Given the description of an element on the screen output the (x, y) to click on. 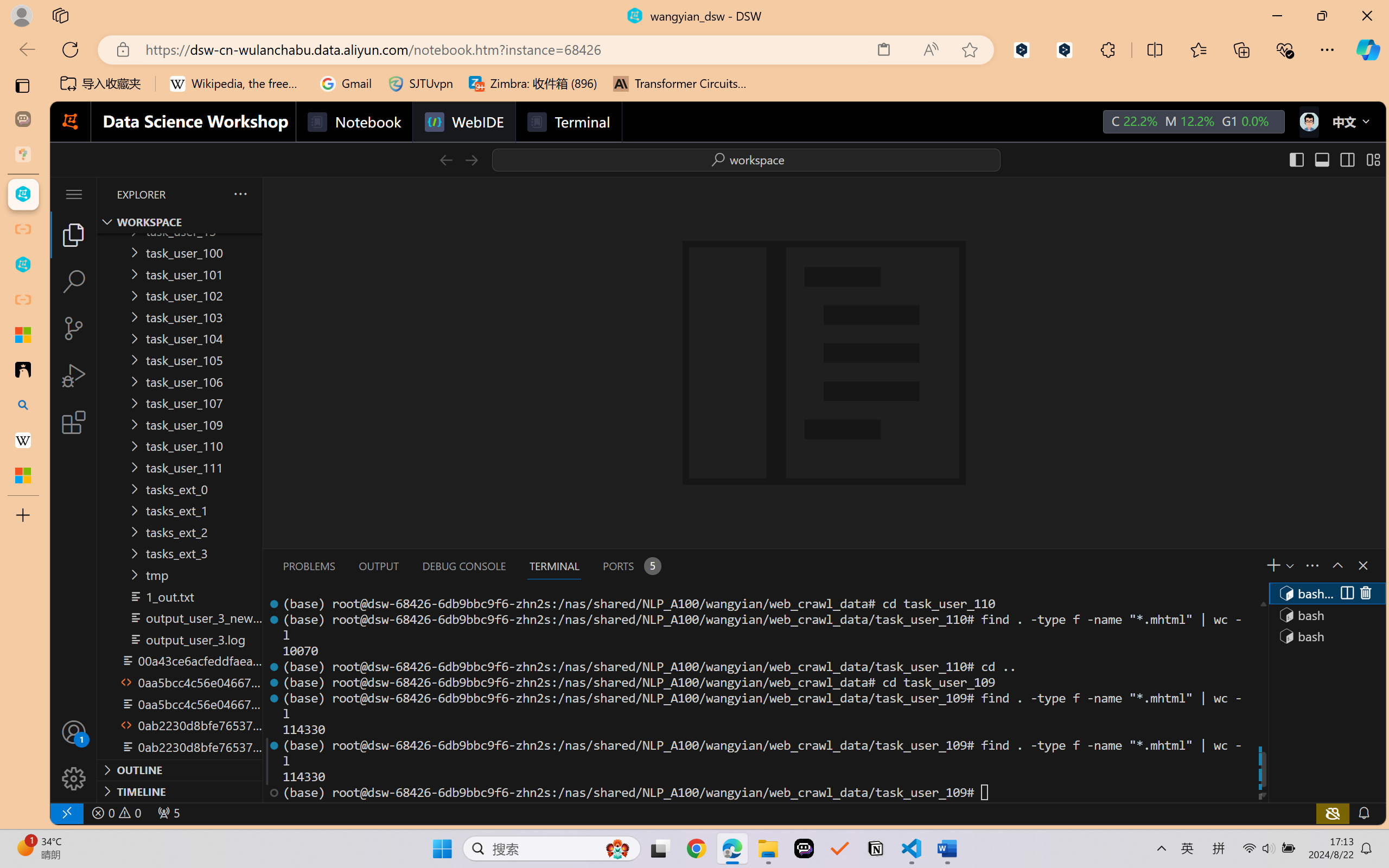
No Problems (115, 812)
Class: menubar compact overflow-menu-only (73, 194)
Debug Console (Ctrl+Shift+Y) (463, 565)
Views and More Actions... (1311, 565)
WebIDE (463, 121)
Maximize Panel Size (1337, 565)
Customize Layout... (1372, 159)
Forwarded Ports: 36301, 47065, 38781, 45817, 50331 (167, 812)
